Given the description of an element on the screen output the (x, y) to click on. 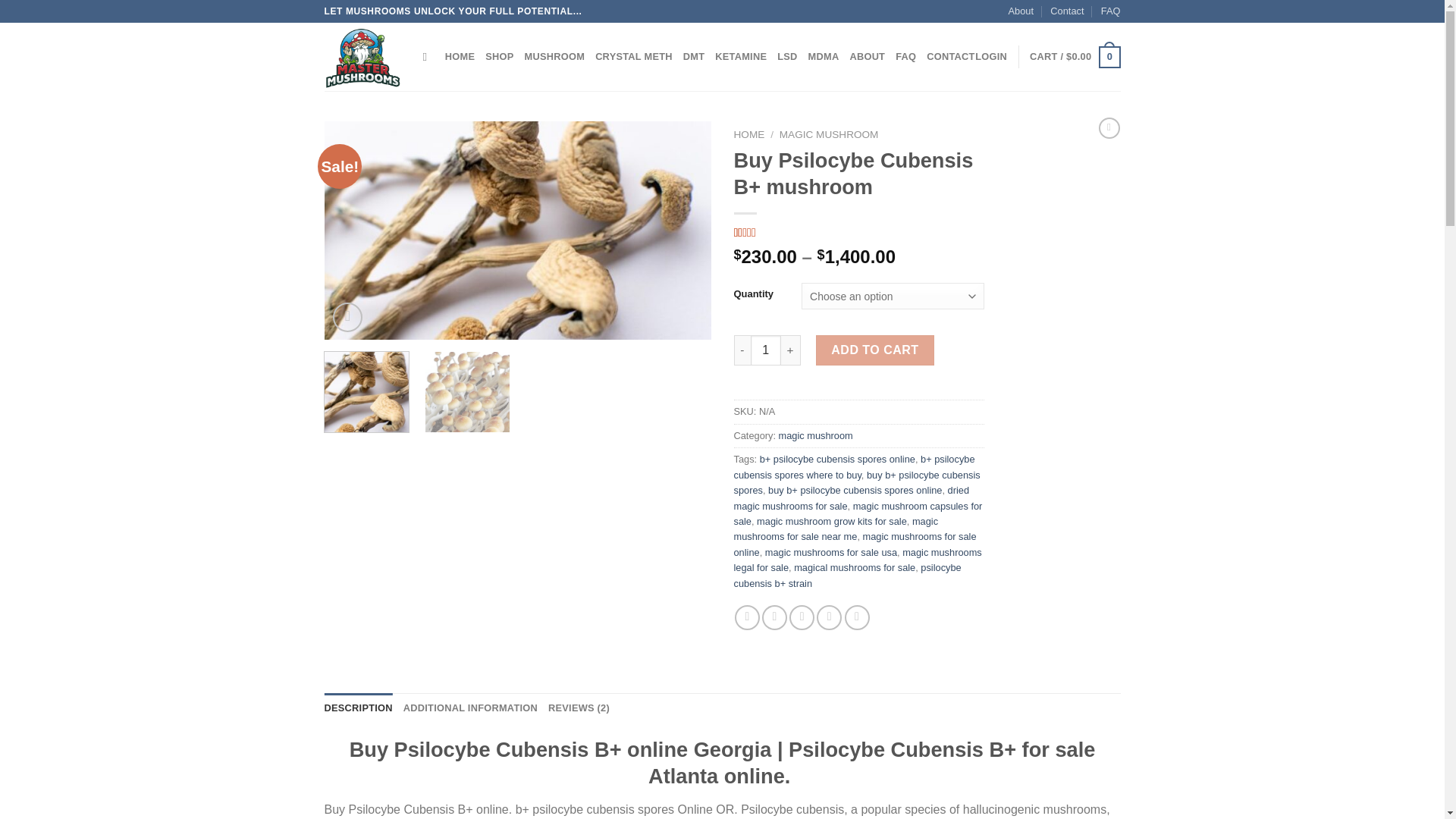
ADD TO CART (874, 349)
MAGIC MUSHROOM (828, 134)
SHOP (498, 56)
HOME (459, 56)
CRYSTAL METH (633, 56)
Pin on Pinterest (828, 617)
About (1021, 11)
MDMA (824, 56)
ABOUT (866, 56)
Share on Twitter (774, 617)
